Given the description of an element on the screen output the (x, y) to click on. 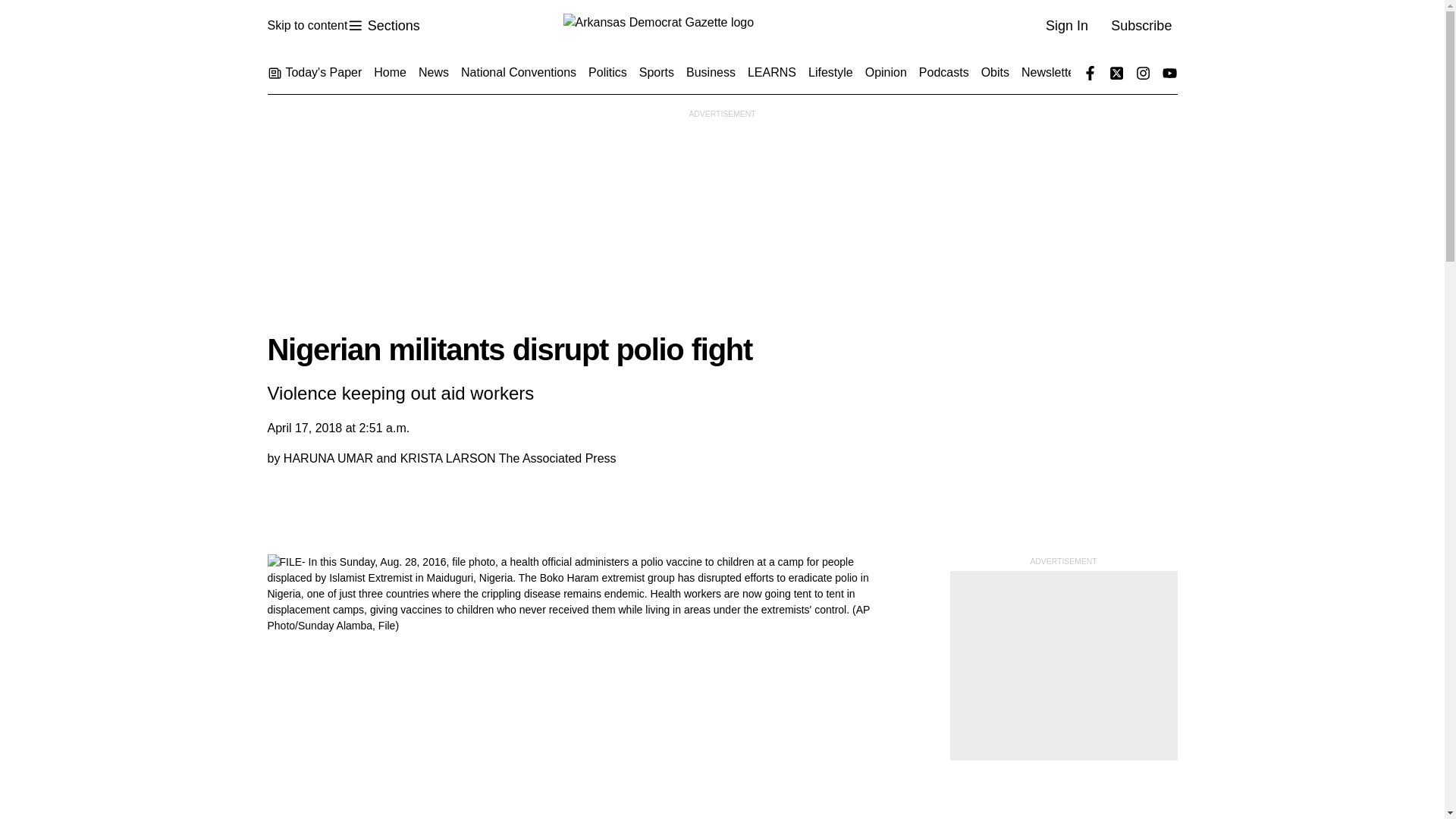
Skip to content (306, 25)
Arkansas Democrat Gazette (383, 25)
